Given the description of an element on the screen output the (x, y) to click on. 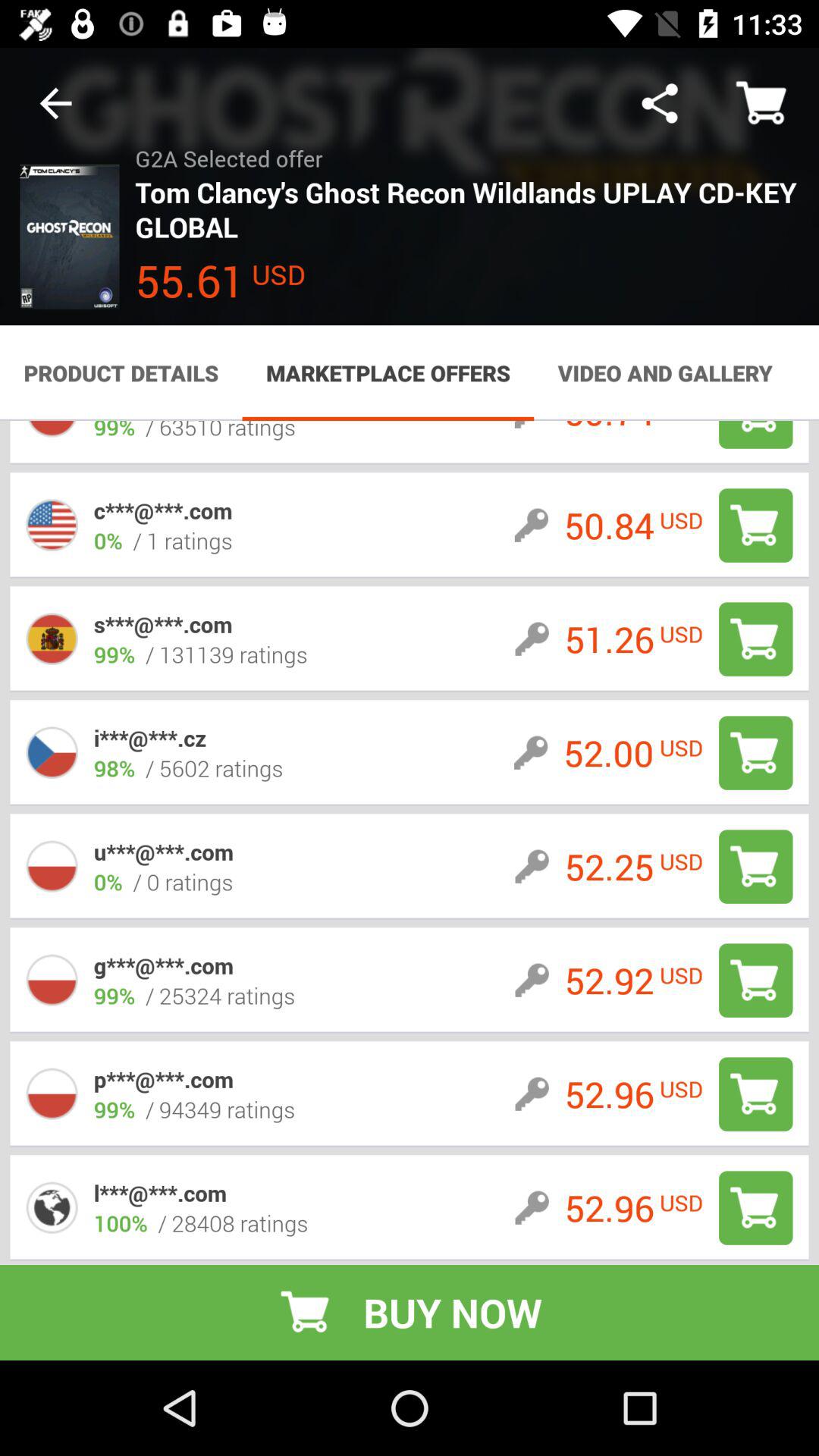
turn off icon above the tom clancy s (659, 103)
